Given the description of an element on the screen output the (x, y) to click on. 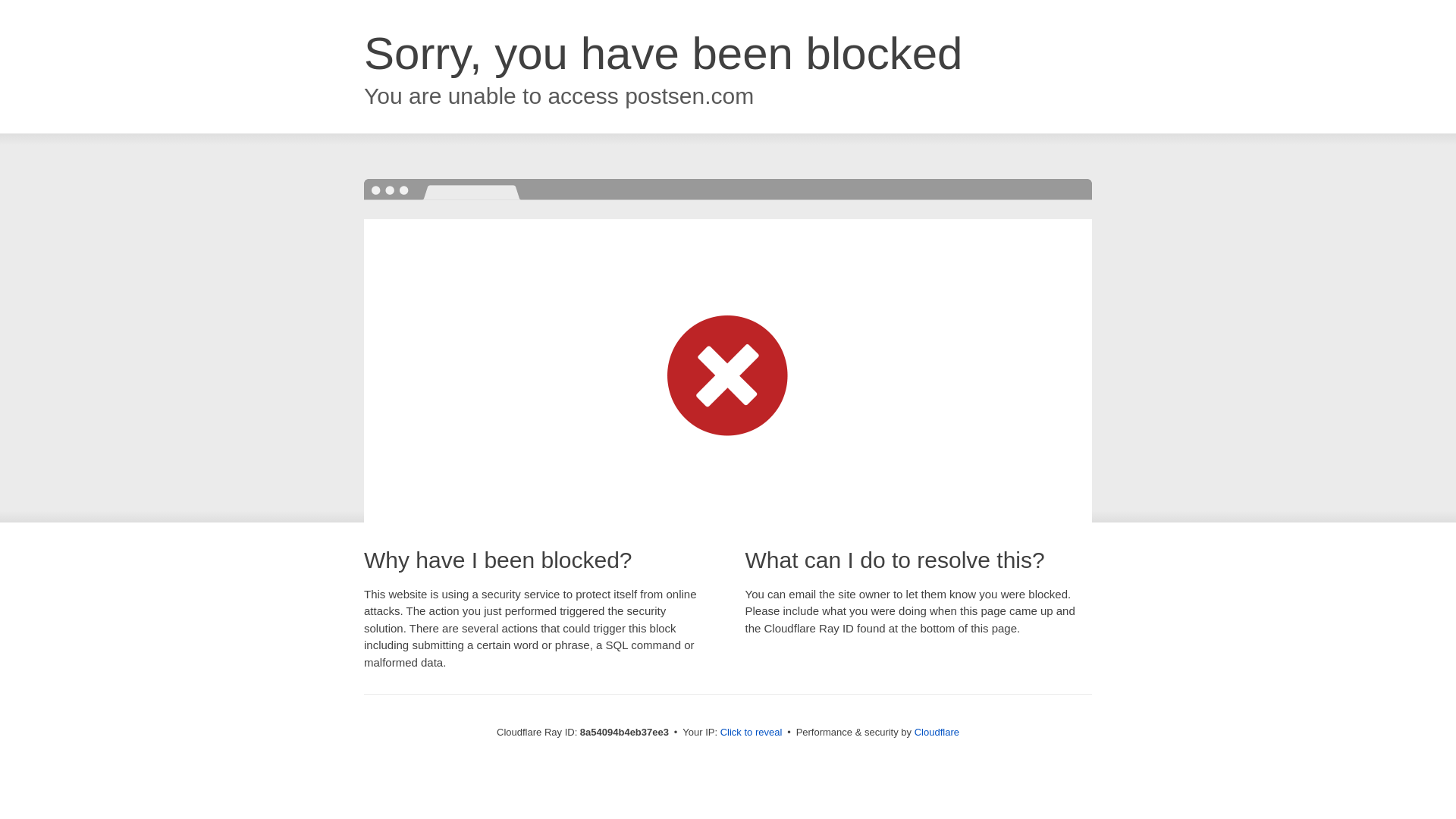
Cloudflare (936, 731)
Click to reveal (751, 732)
